Given the description of an element on the screen output the (x, y) to click on. 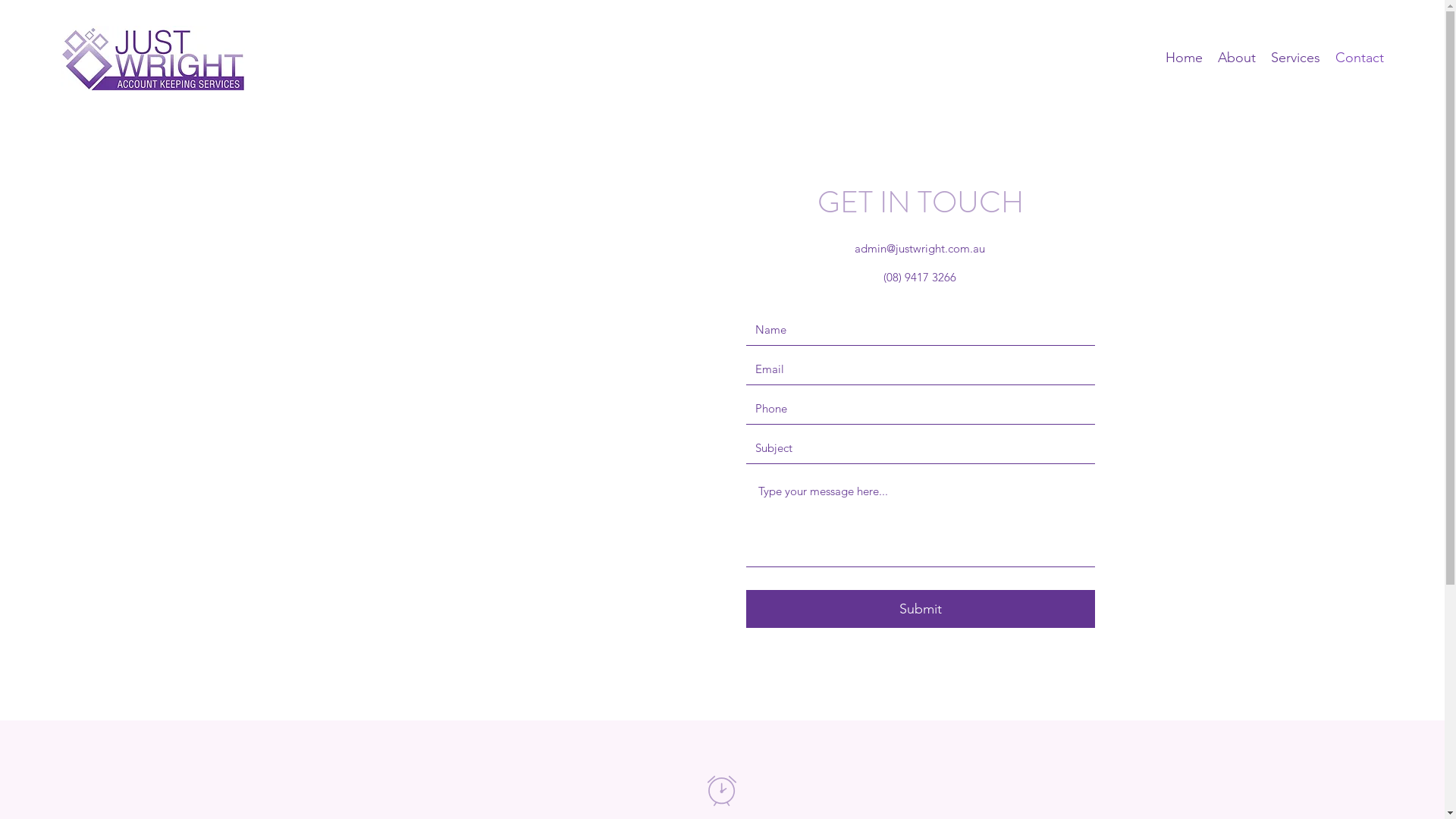
About Element type: text (1236, 57)
Services Element type: text (1295, 57)
admin@justwright.com.au Element type: text (918, 248)
(08) 9417 3266 Element type: text (918, 276)
Home Element type: text (1183, 57)
Google Maps Element type: hover (525, 417)
Contact Element type: text (1359, 57)
Submit Element type: text (920, 608)
